Given the description of an element on the screen output the (x, y) to click on. 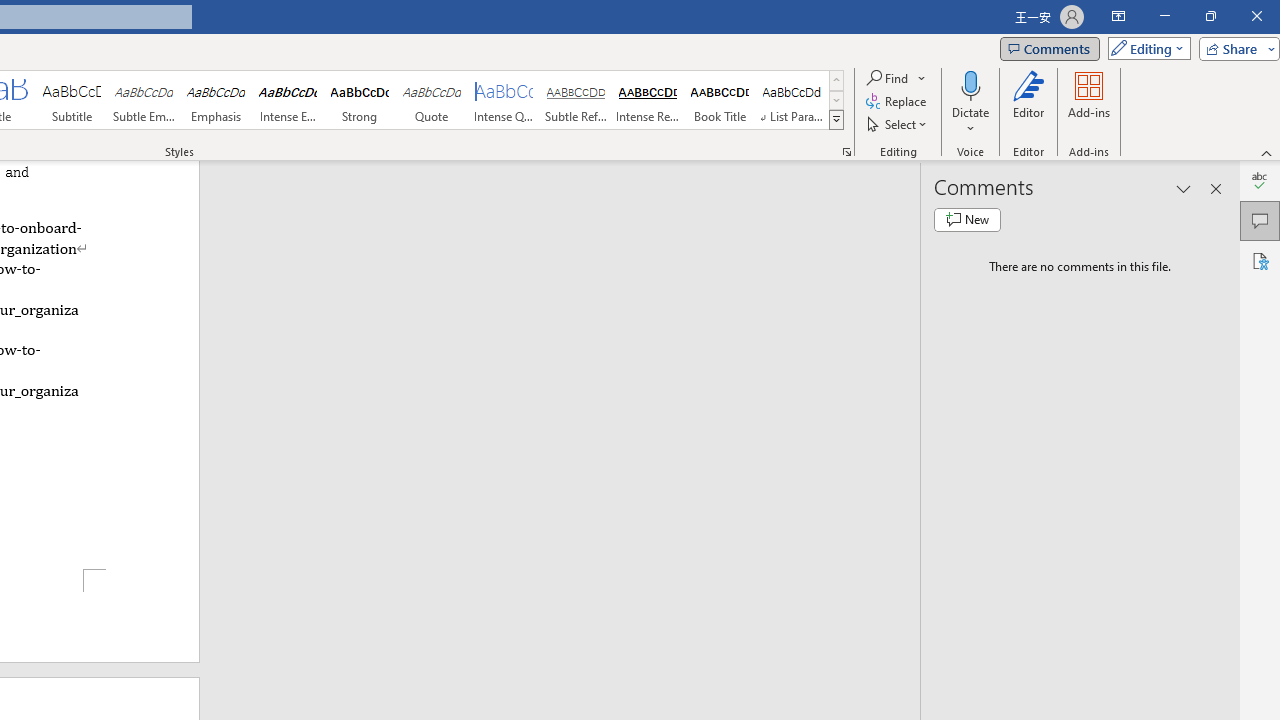
Accessibility (1260, 260)
Intense Emphasis (287, 100)
Class: NetUIImage (836, 119)
Intense Reference (647, 100)
Editor (1260, 180)
Close pane (1215, 188)
Replace... (897, 101)
Subtle Emphasis (143, 100)
Dictate (970, 84)
Share (1235, 48)
Select (898, 124)
Editing (1144, 47)
Dictate (970, 102)
New comment (967, 219)
